Given the description of an element on the screen output the (x, y) to click on. 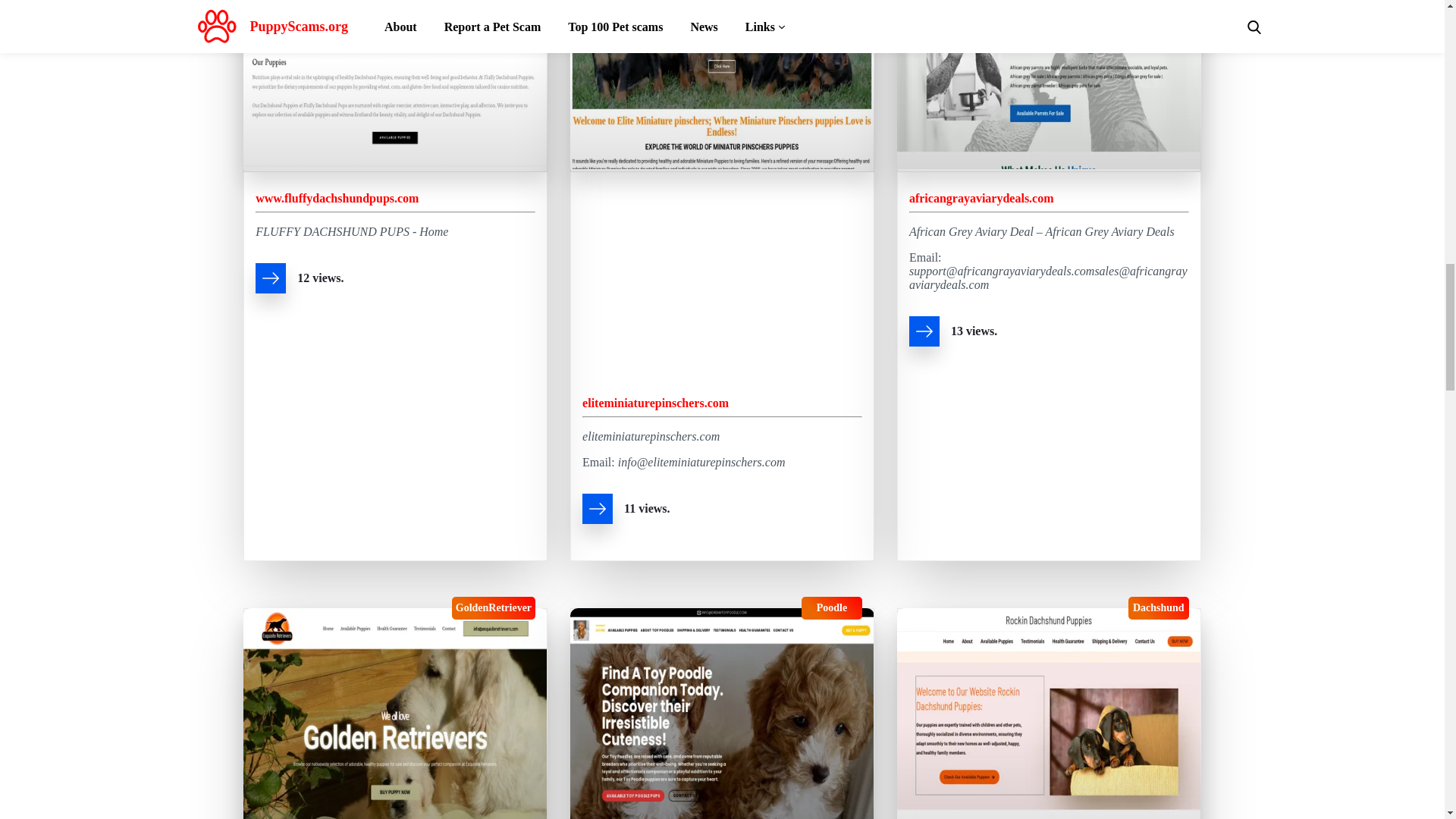
13 views. (1048, 333)
12 views. (395, 281)
eliteminiaturepinschers.com (655, 402)
11 views. (721, 511)
3rd party ad content (722, 274)
www.fluffydachshundpups.com (337, 197)
africangrayaviarydeals.com (981, 197)
